Given the description of an element on the screen output the (x, y) to click on. 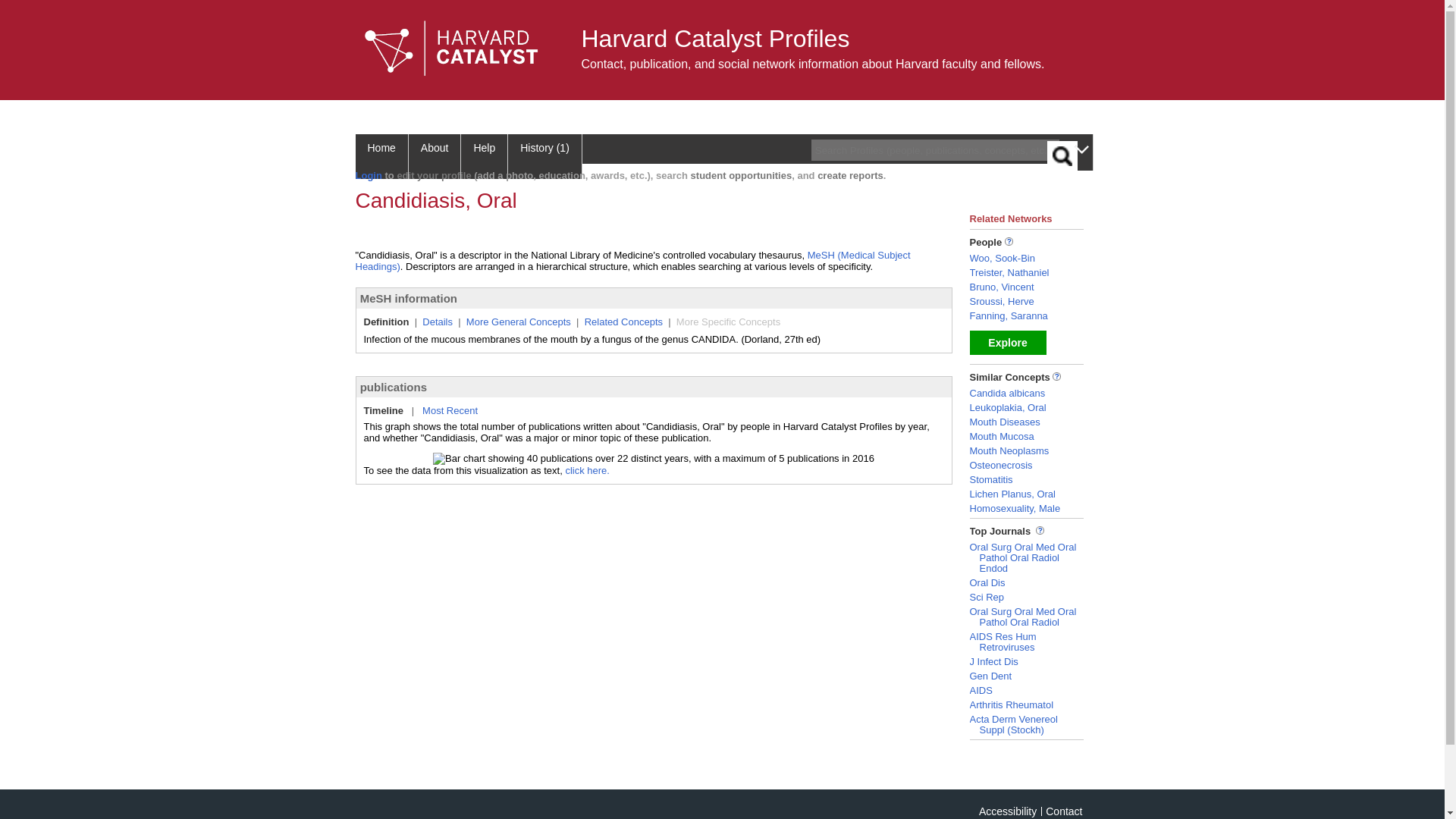
Contact (1063, 811)
View Harvard Catalyst Homepage (451, 49)
Login (368, 174)
Related Concepts (623, 321)
Definition (386, 321)
Help (484, 156)
More General Concepts (517, 321)
Home (381, 156)
Accessibility (1007, 811)
About (435, 156)
More Specific Concepts (728, 321)
Details (437, 321)
MeSH information (408, 297)
